Given the description of an element on the screen output the (x, y) to click on. 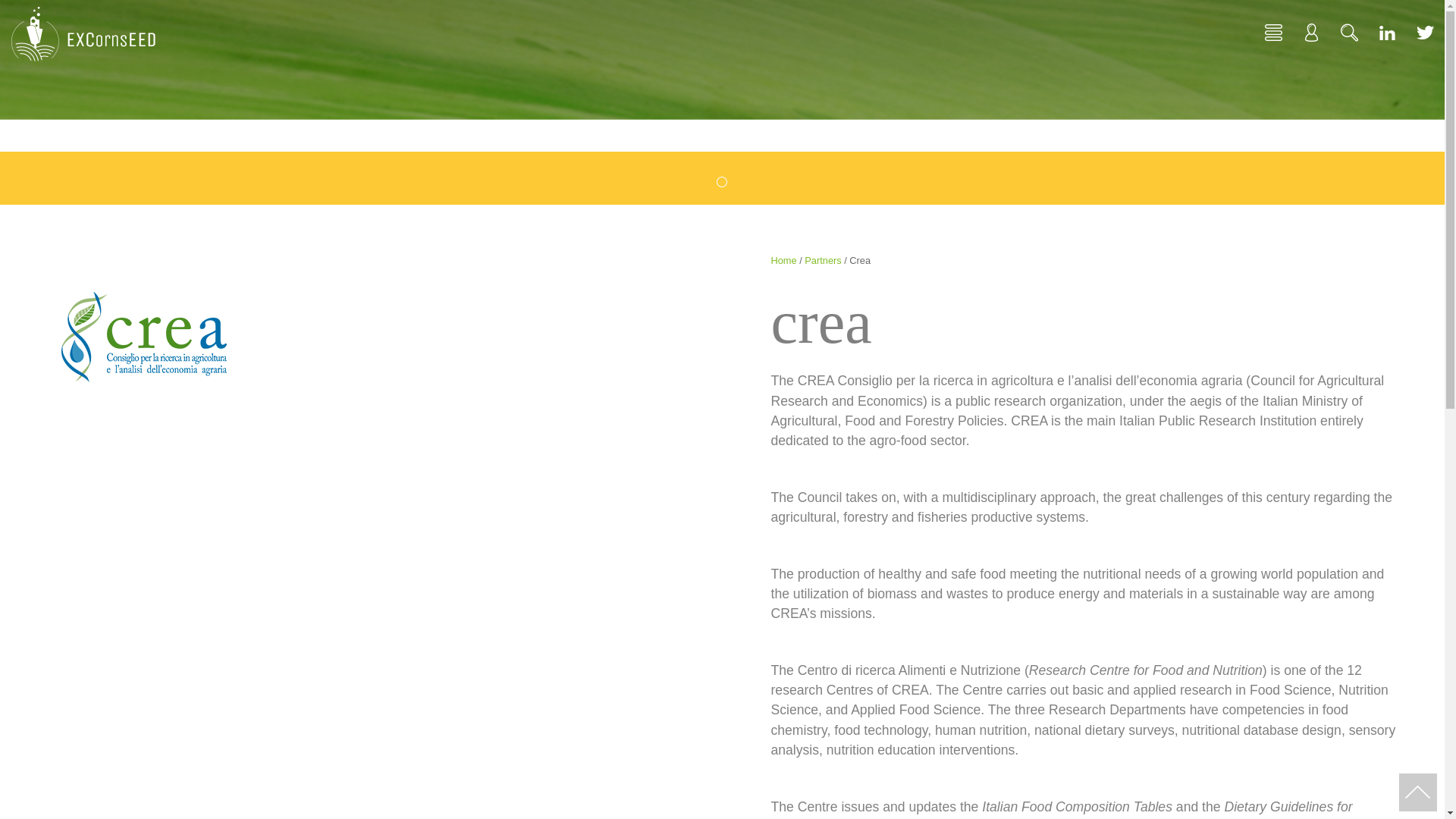
Home (783, 260)
Linkedin (1387, 30)
Search (1349, 30)
Home (1273, 30)
Profile (1311, 30)
EXCornsEED (83, 33)
Partners (823, 260)
